Given the description of an element on the screen output the (x, y) to click on. 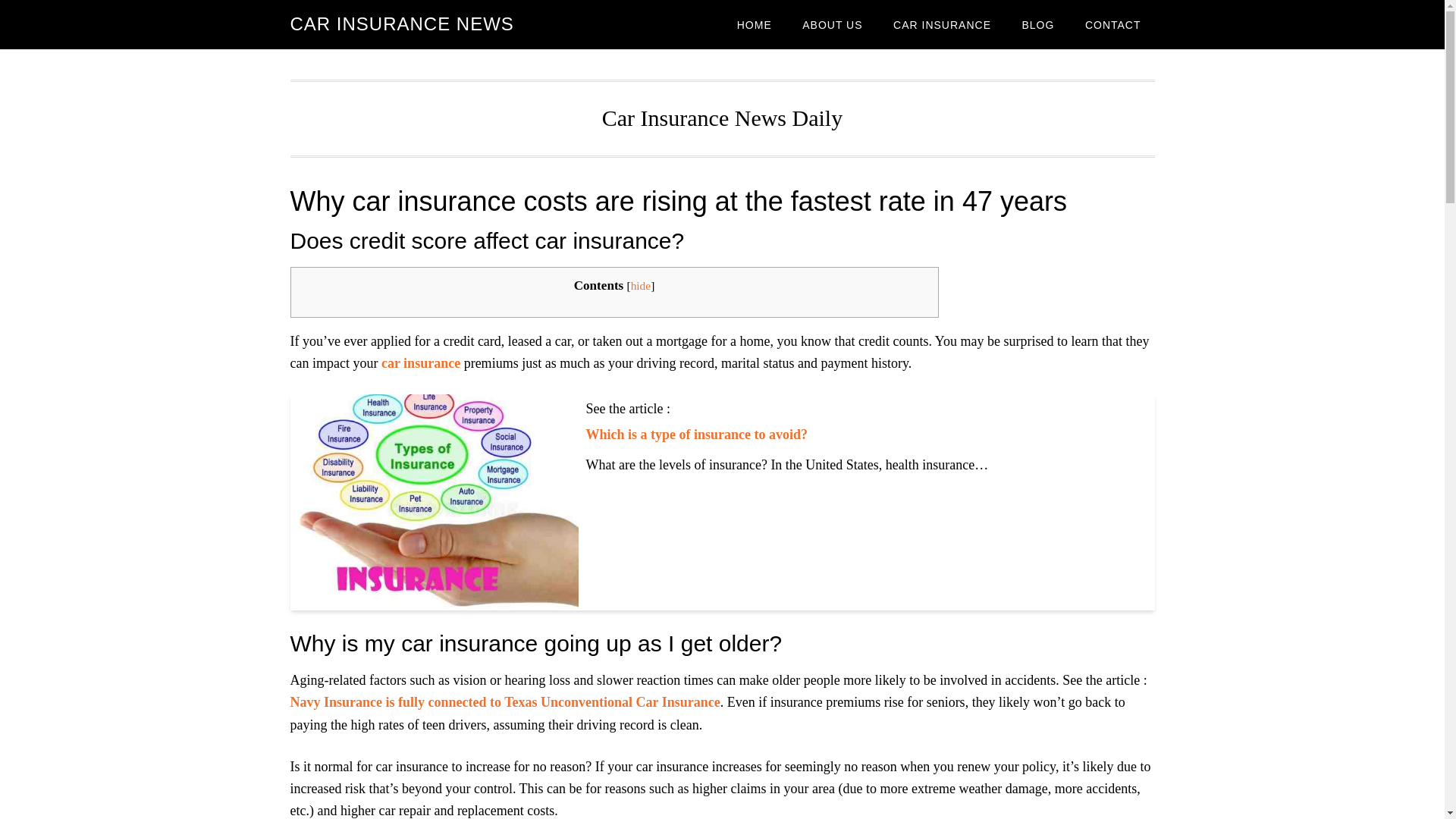
Which is a type of insurance to avoid? (696, 434)
car insurance (420, 363)
HOME (754, 24)
CONTACT (1112, 24)
CAR INSURANCE NEWS (401, 23)
hide (640, 285)
BLOG (1037, 24)
ABOUT US (832, 24)
